Given the description of an element on the screen output the (x, y) to click on. 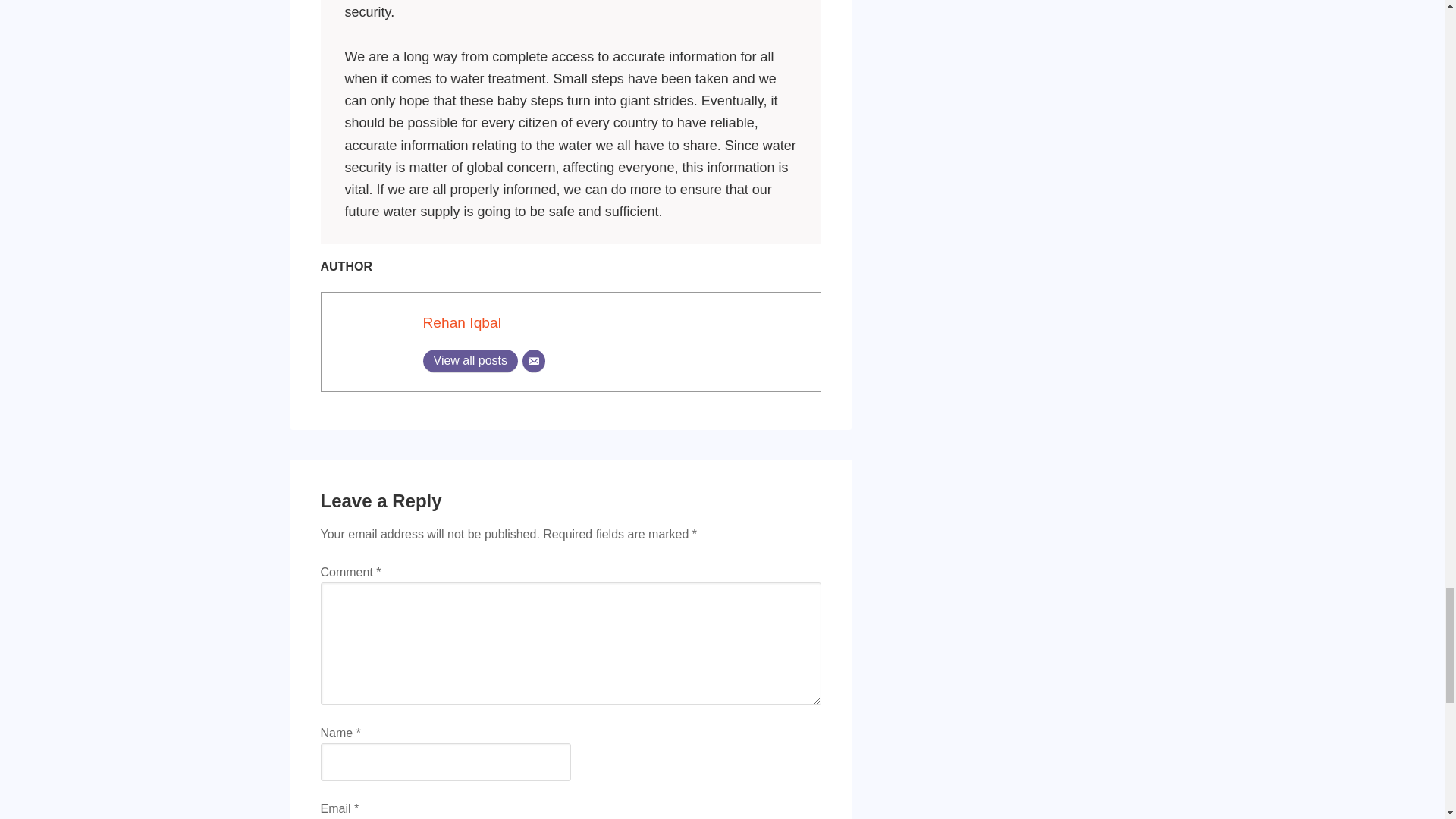
Rehan Iqbal (461, 322)
View all posts (470, 361)
Rehan Iqbal (461, 322)
View all posts (470, 361)
